Given the description of an element on the screen output the (x, y) to click on. 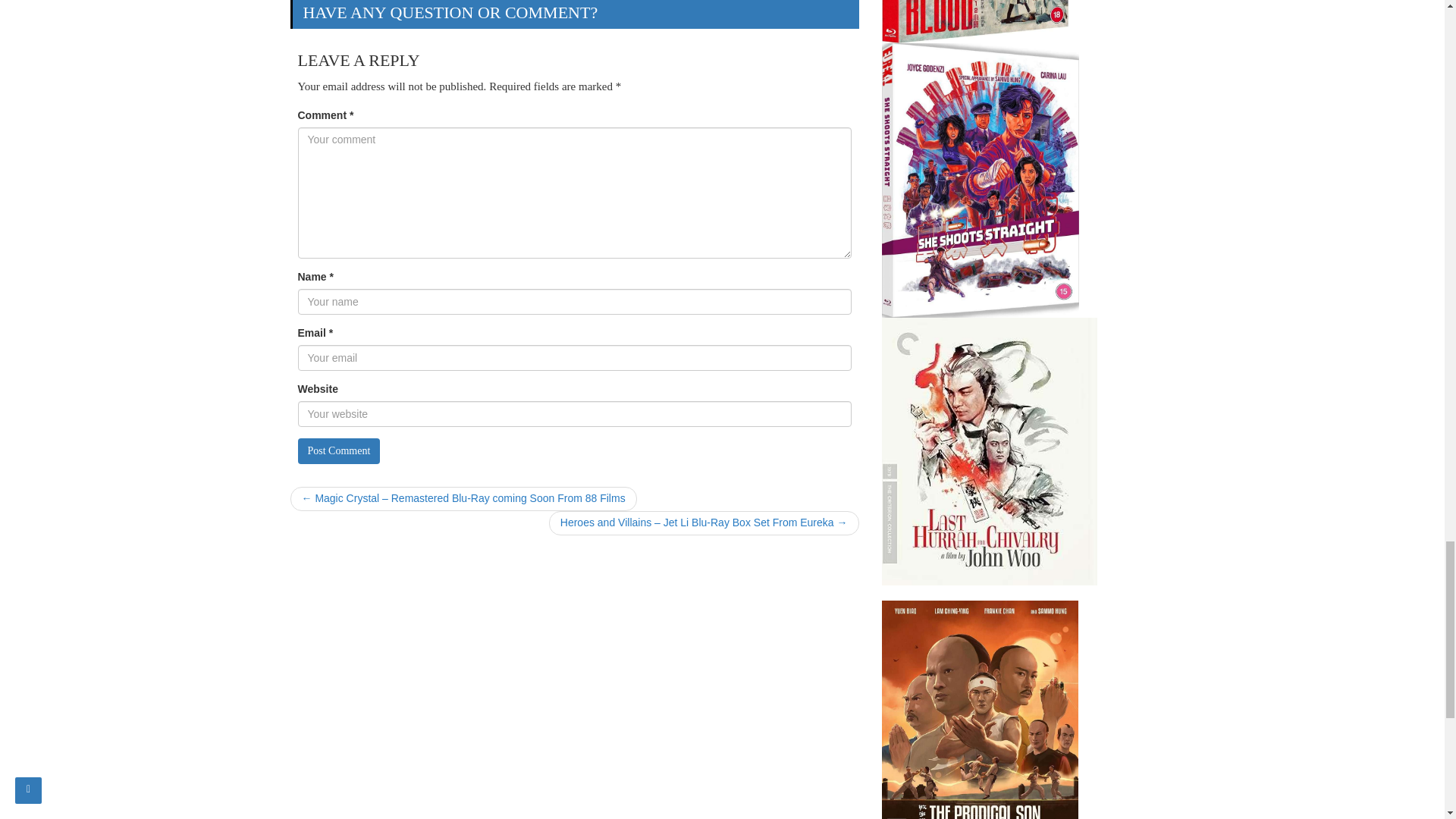
Post Comment (338, 451)
Post Comment (338, 451)
